Given the description of an element on the screen output the (x, y) to click on. 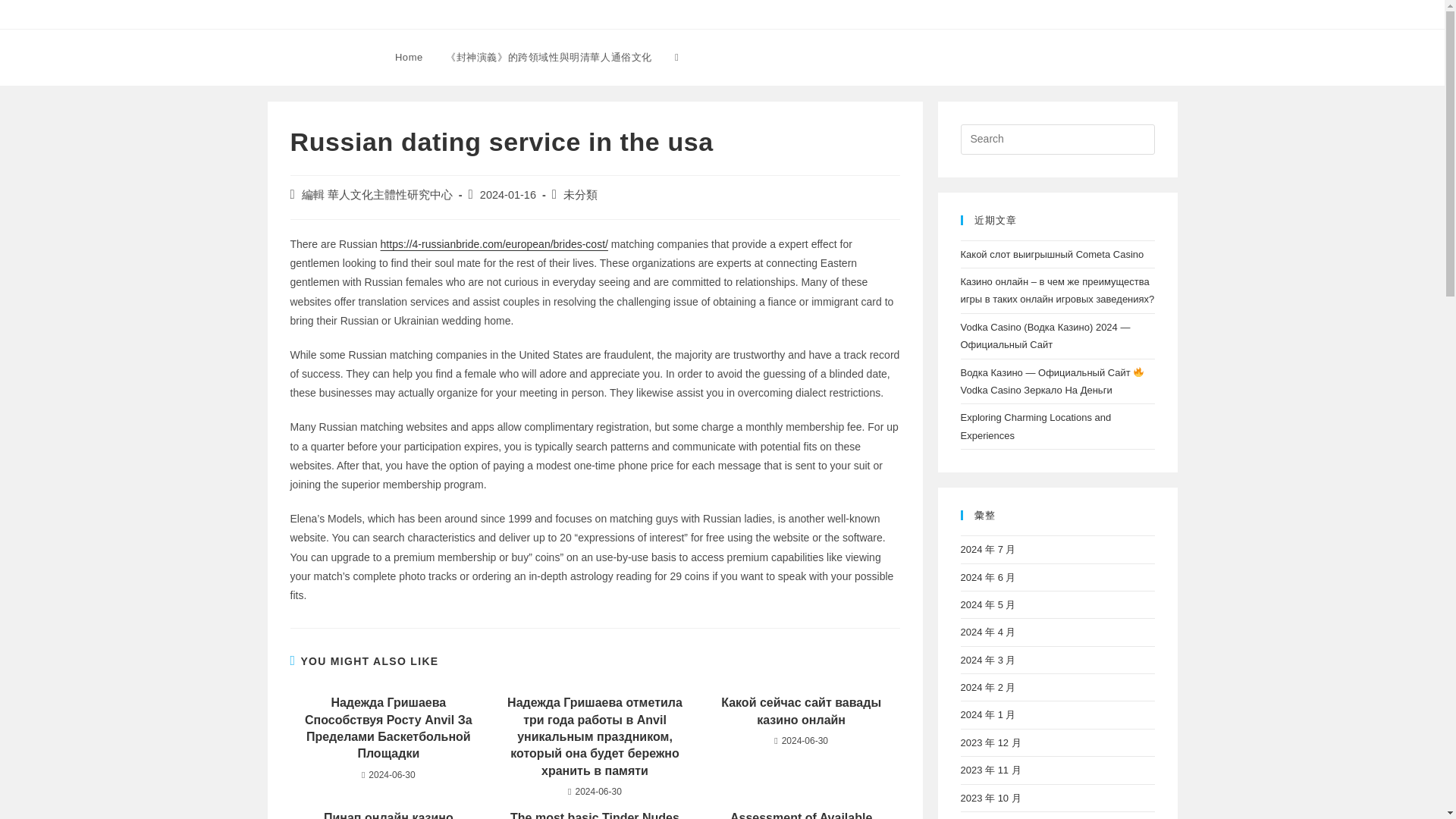
The most basic Tinder Nudes Site For finding Placed (594, 814)
Home (408, 57)
Barbara Witt (317, 56)
Exploring Charming Locations and Experiences (1034, 425)
Assessment of Available Columbian Women (801, 814)
